Given the description of an element on the screen output the (x, y) to click on. 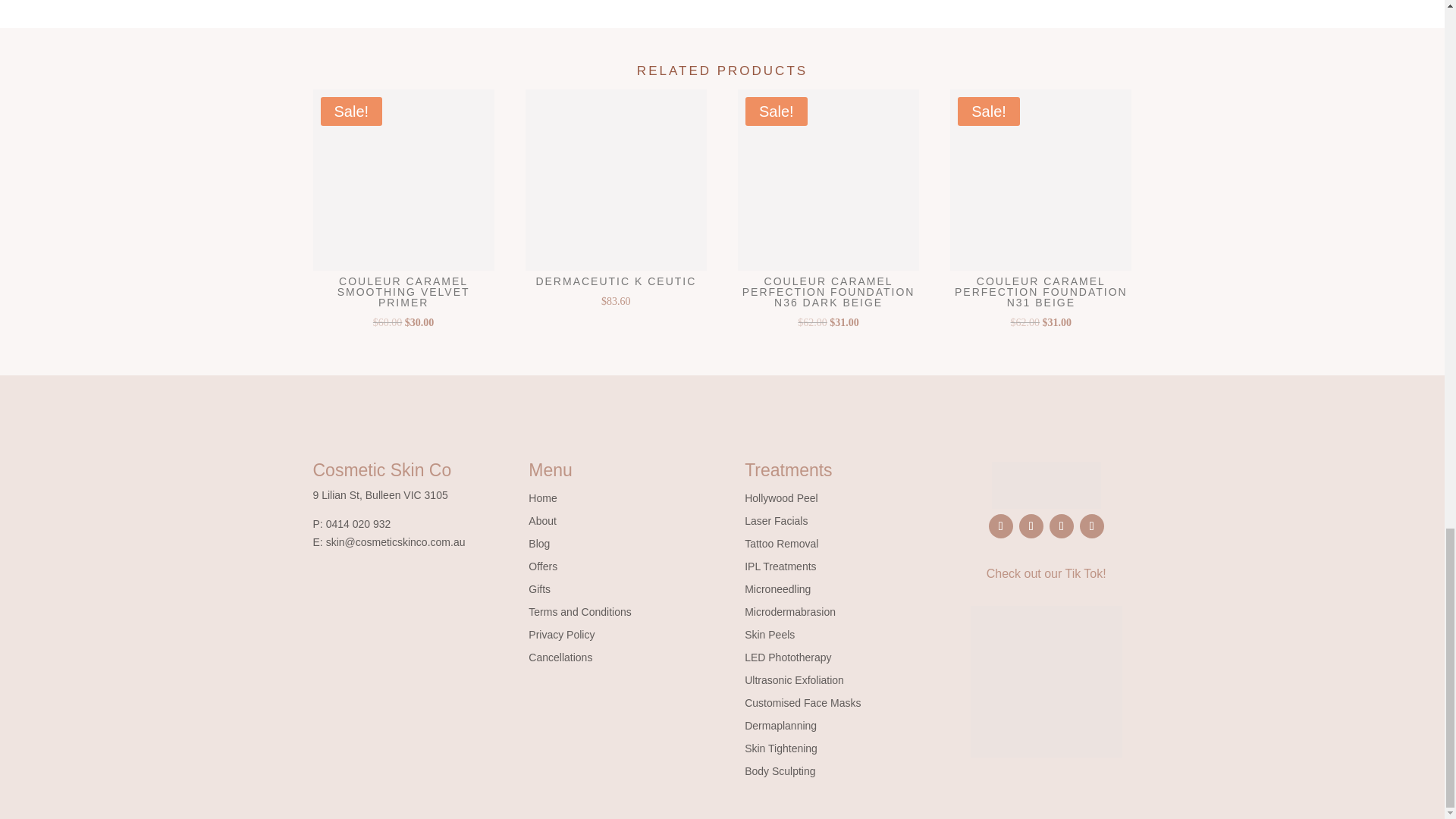
Follow on Facebook (1000, 526)
Follow on X (1061, 526)
Follow on Pinterest (1091, 526)
ABIC-Badges-Digital-2022-Iam (1046, 681)
Follow on Instagram (1031, 526)
